Given the description of an element on the screen output the (x, y) to click on. 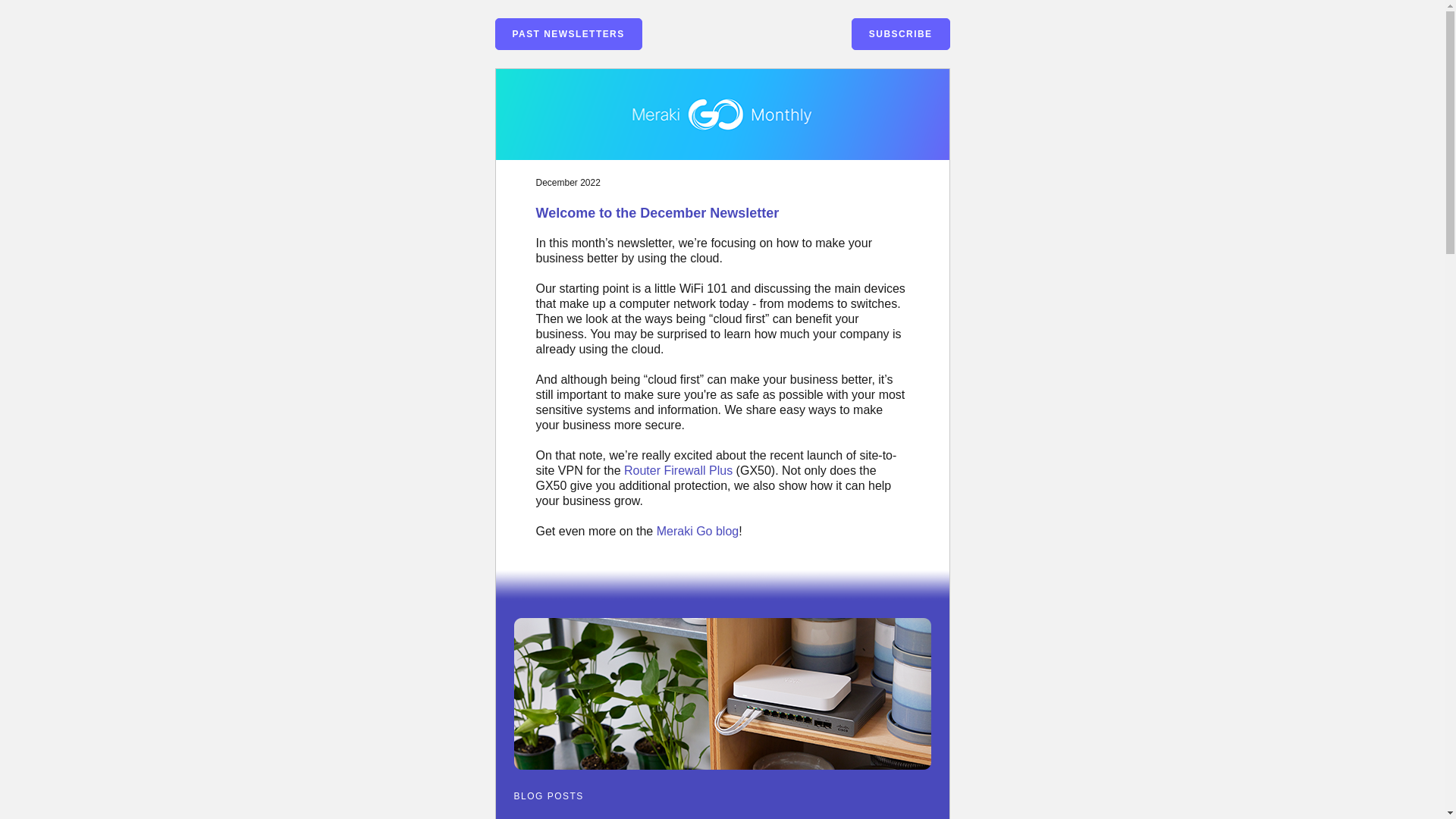
PAST NEWSLETTERS (568, 33)
SUBSCRIBE (900, 33)
Router Firewall Plus (678, 470)
Meraki Go blog (697, 530)
